Given the description of an element on the screen output the (x, y) to click on. 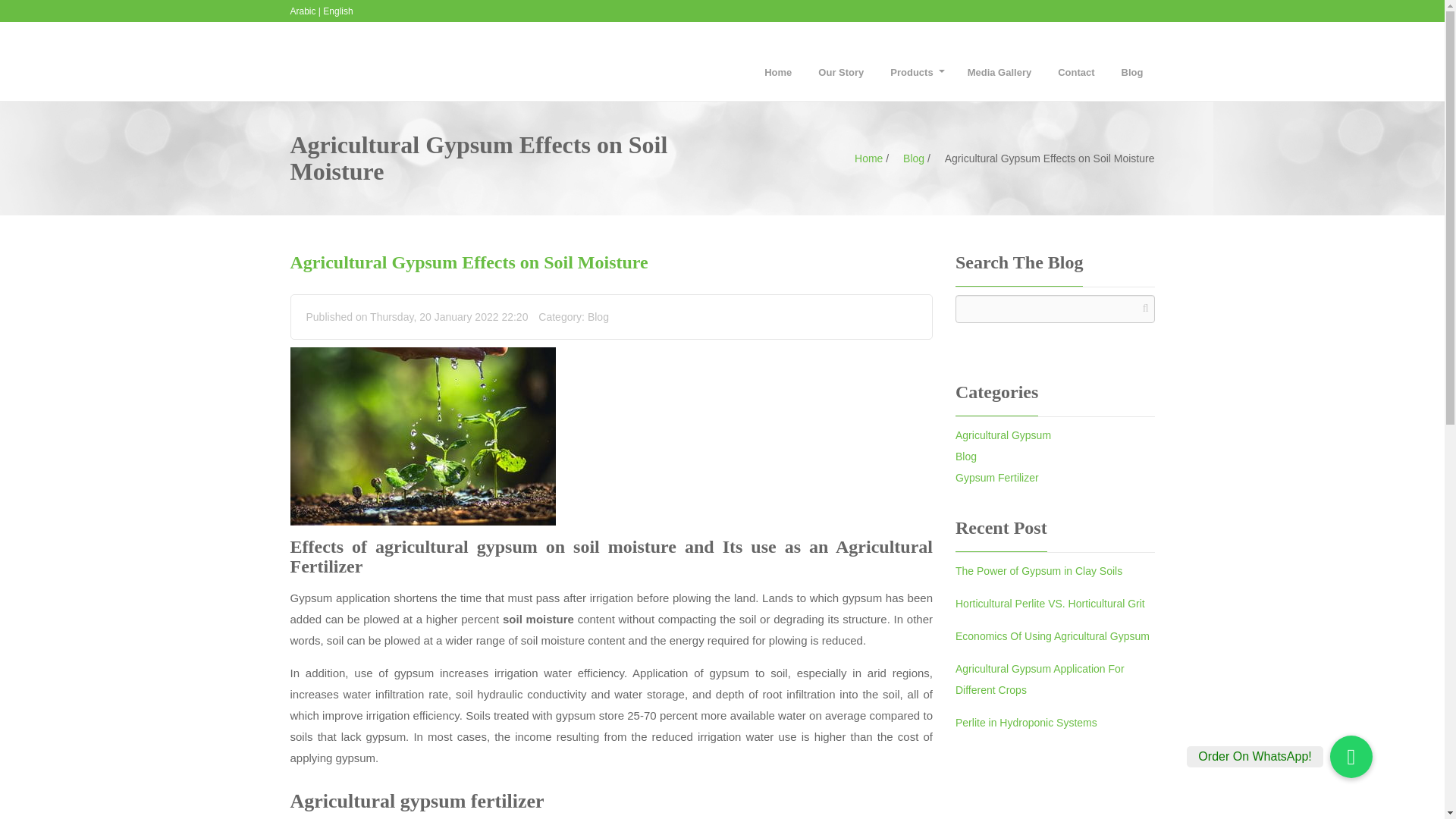
Products (915, 71)
Economics Of Using Agricultural Gypsum (1052, 635)
Blog (965, 456)
Contact (1075, 71)
Agricultural Gypsum Effects on Soil Moisture 1 (421, 436)
Home (862, 158)
Blog (1131, 71)
The Power of Gypsum in Clay Soils (1038, 571)
Our Story (840, 71)
Agricultural Gypsum (1003, 435)
Search (970, 336)
Blog (598, 316)
Blog (907, 158)
Gypsum Fertilizer (997, 477)
Home (777, 71)
